Given the description of an element on the screen output the (x, y) to click on. 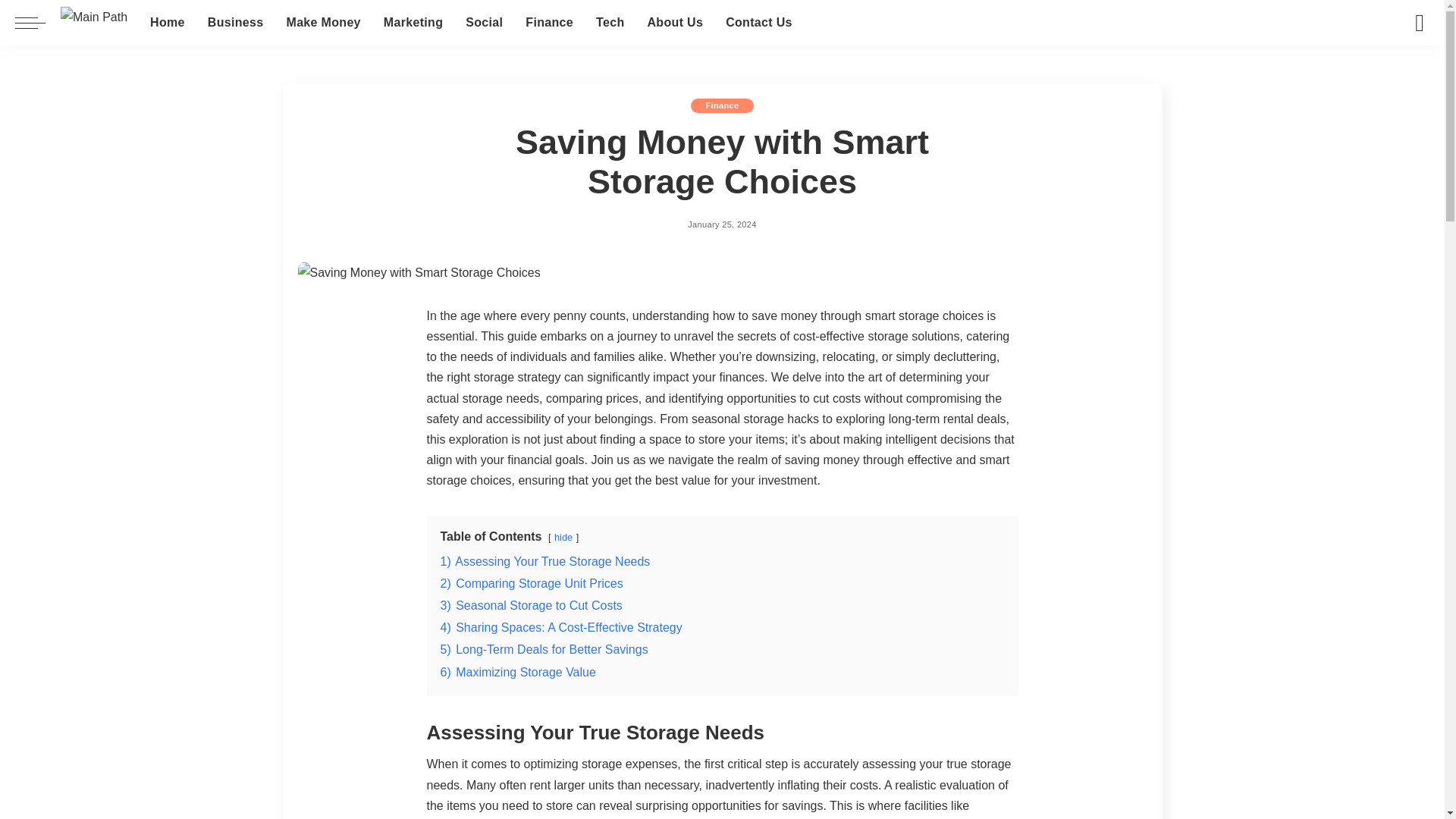
About Us (674, 22)
Search (1408, 65)
Search (1419, 22)
Marketing (413, 22)
Make Money (323, 22)
Tech (609, 22)
Business (235, 22)
Main Path (94, 22)
Home (167, 22)
Contact Us (758, 22)
Social (483, 22)
Finance (549, 22)
